Given the description of an element on the screen output the (x, y) to click on. 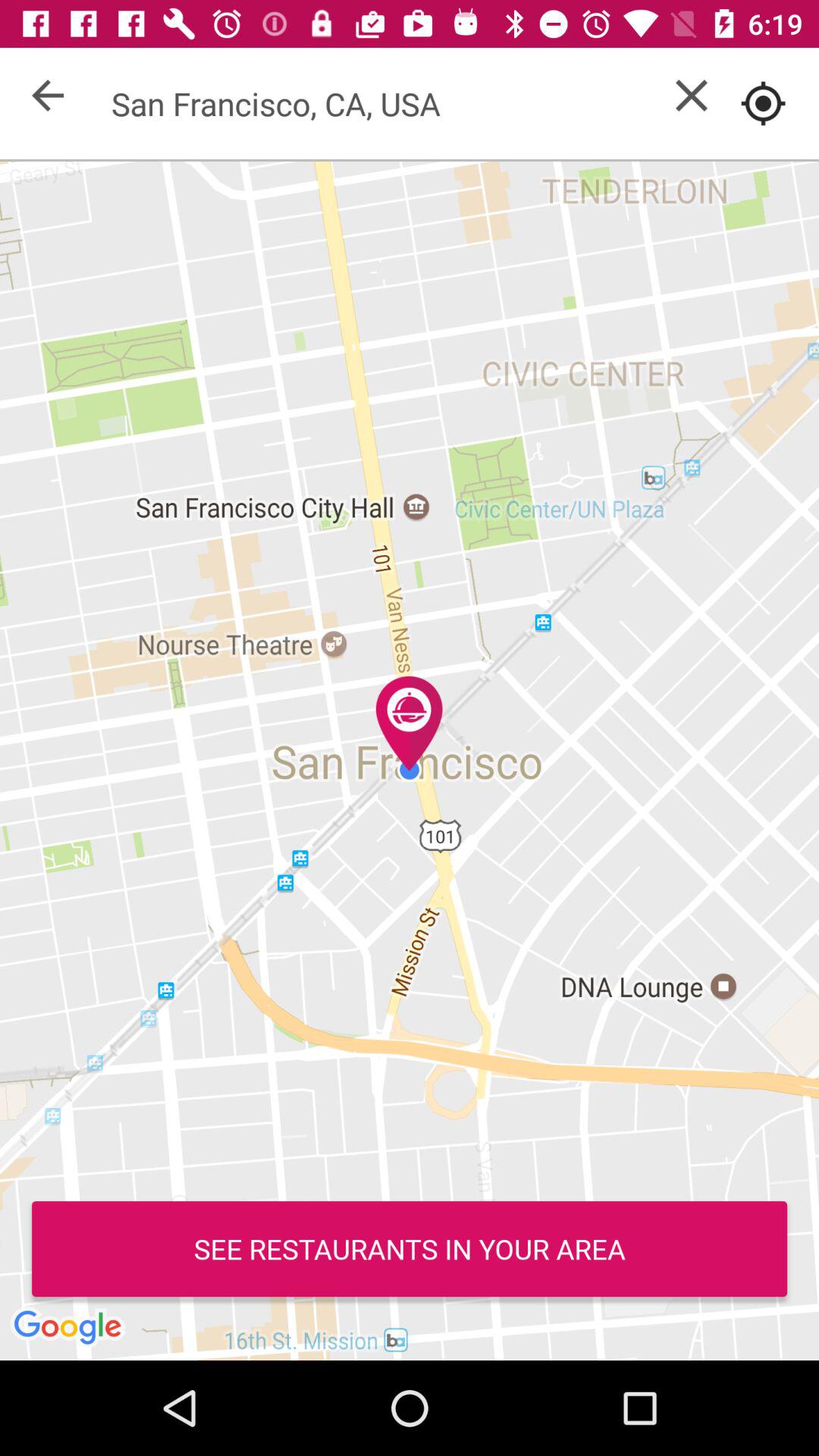
current location (763, 103)
